Given the description of an element on the screen output the (x, y) to click on. 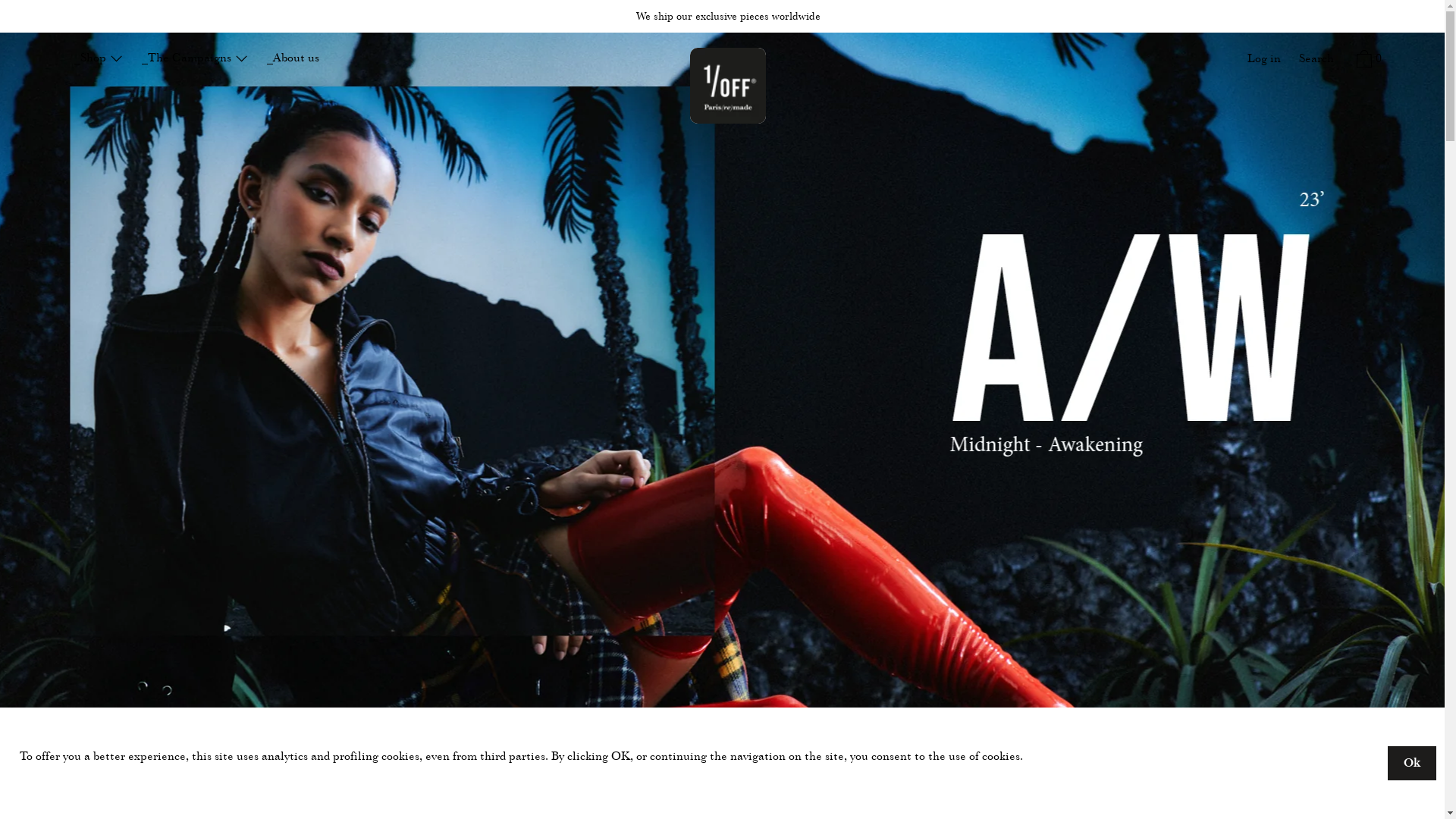
Ok Element type: text (1411, 762)
Log in Element type: text (1263, 59)
_Shop Element type: text (98, 58)
_About us Element type: text (292, 58)
0 Element type: text (1366, 61)
Search Element type: text (1316, 59)
_The Campaigns Element type: text (195, 58)
